Given the description of an element on the screen output the (x, y) to click on. 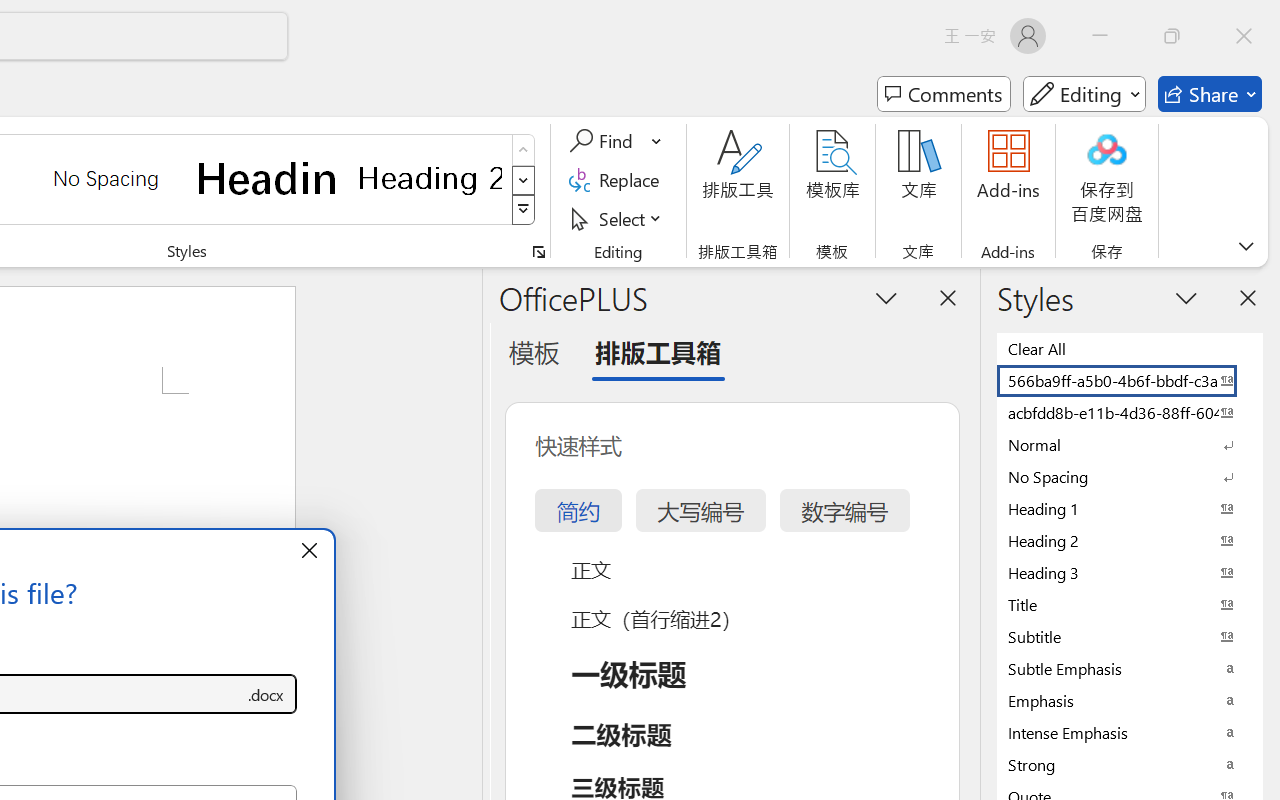
Clear All (1130, 348)
Select (618, 218)
Intense Emphasis (1130, 732)
Subtle Emphasis (1130, 668)
